Given the description of an element on the screen output the (x, y) to click on. 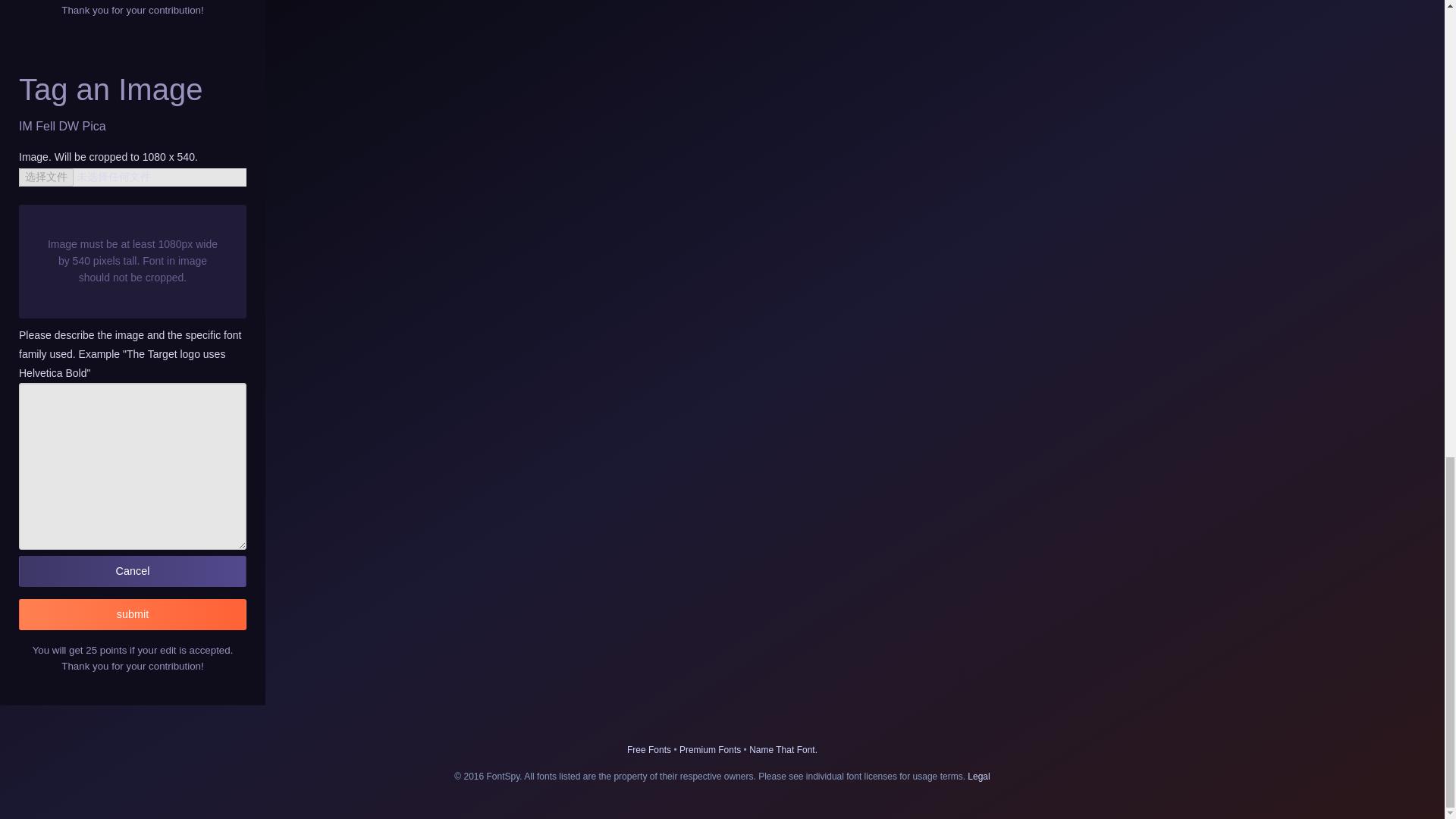
submit (132, 613)
Premium Fonts (710, 749)
Cancel (132, 571)
submit (132, 613)
Free Fonts (649, 749)
Name That Font. (782, 749)
Legal (979, 776)
